Given the description of an element on the screen output the (x, y) to click on. 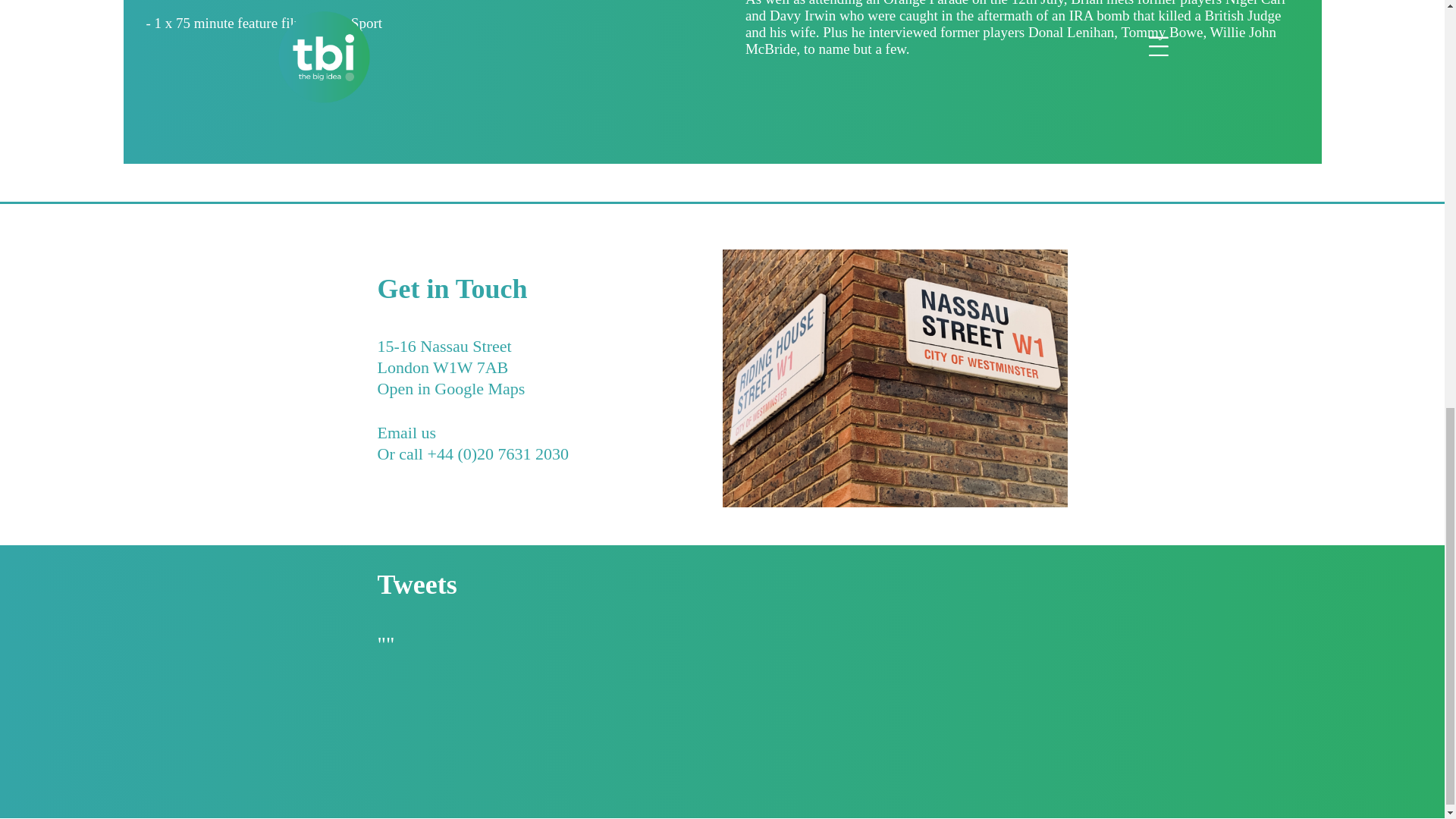
Open in Google Maps (451, 399)
Email us (406, 444)
